Given the description of an element on the screen output the (x, y) to click on. 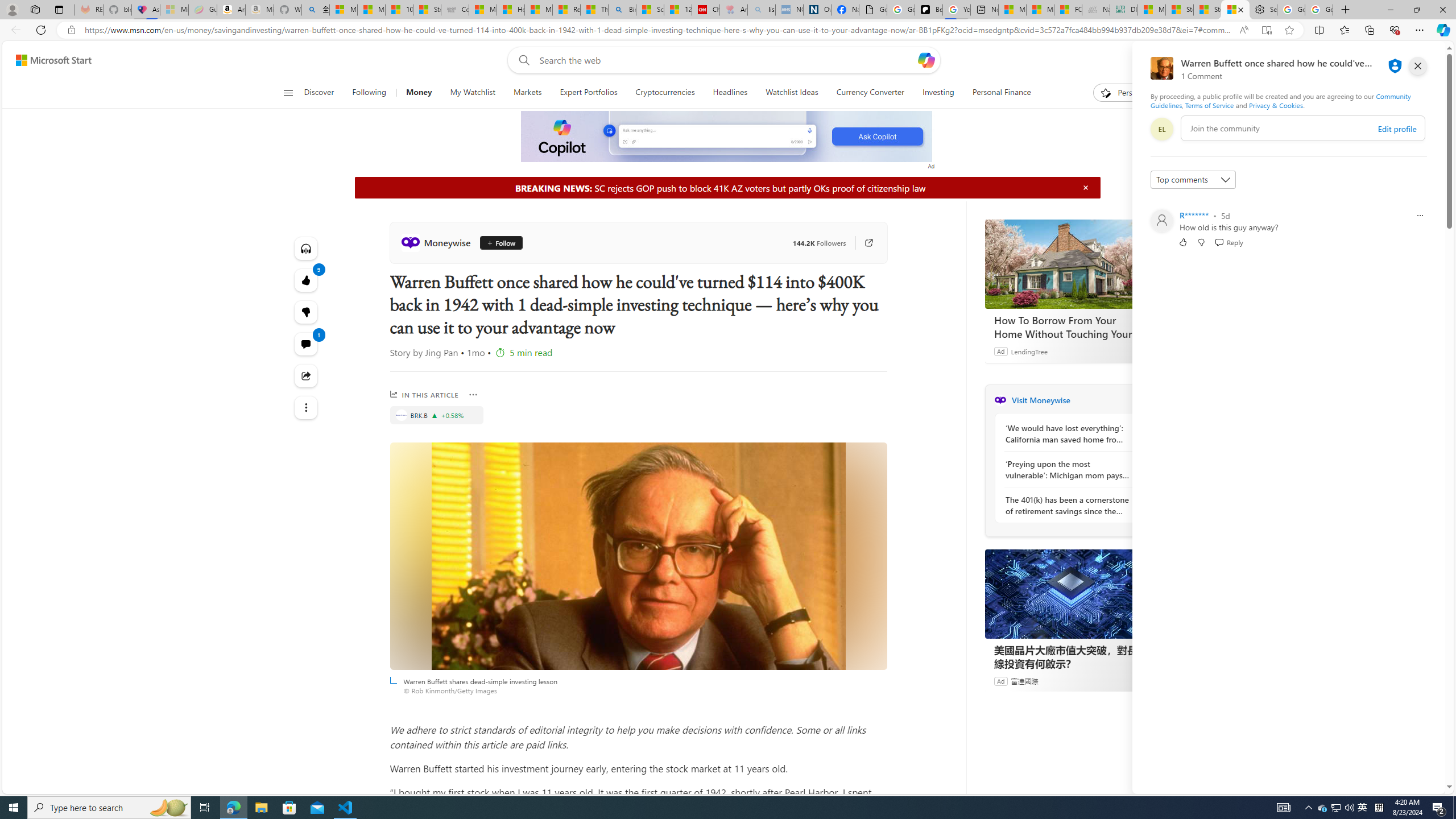
Enter Immersive Reader (F9) (1266, 29)
Visit Moneywise website (1140, 399)
Headlines (729, 92)
Asthma Inhalers: Names and Types (145, 9)
Currency Converter (869, 92)
